Given the description of an element on the screen output the (x, y) to click on. 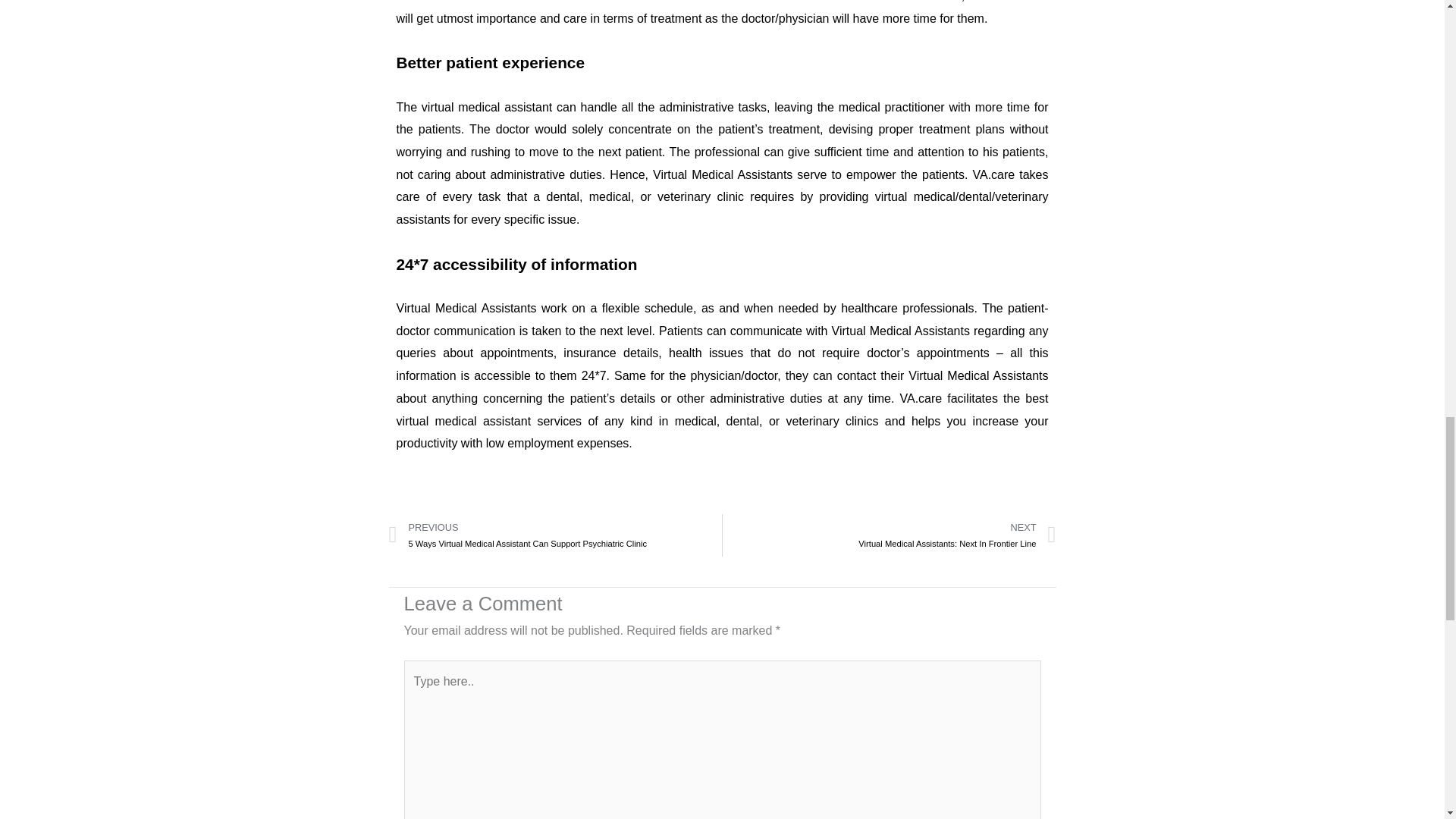
Virtual Medical Assistants (465, 308)
